Given the description of an element on the screen output the (x, y) to click on. 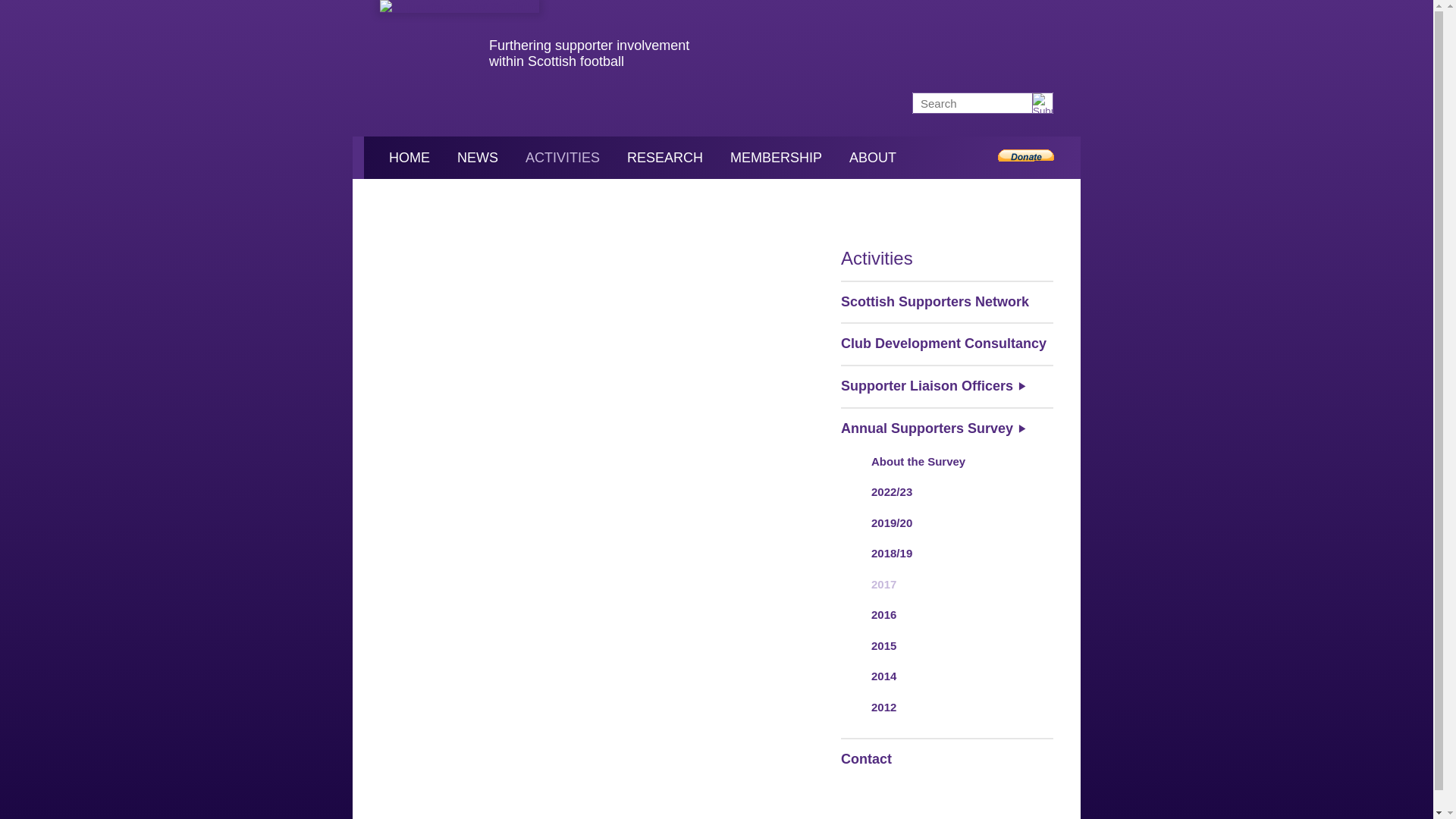
Supporter Liaison Officers (946, 385)
Club Development Consultancy (946, 342)
MEMBERSHIP (775, 157)
About the Survey (946, 461)
ACTIVITIES (562, 157)
2017 (946, 584)
2014 (946, 676)
2015 (946, 645)
Annual Supporters Survey (946, 428)
RESEARCH (664, 157)
